Given the description of an element on the screen output the (x, y) to click on. 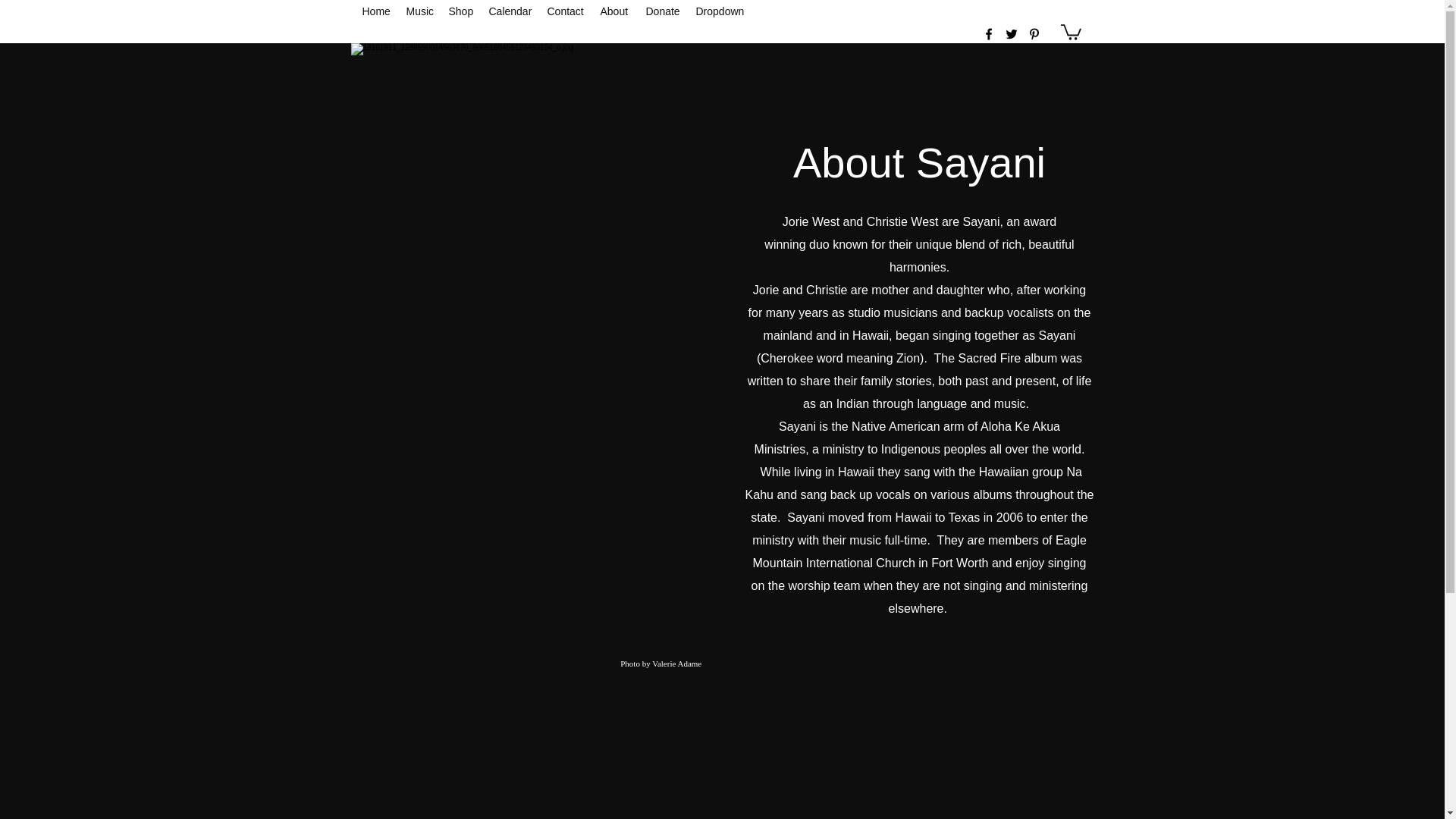
Contact (566, 11)
About (615, 11)
Music (419, 11)
Home (376, 11)
Calendar (509, 11)
Shop (461, 11)
Donate (663, 11)
